Given the description of an element on the screen output the (x, y) to click on. 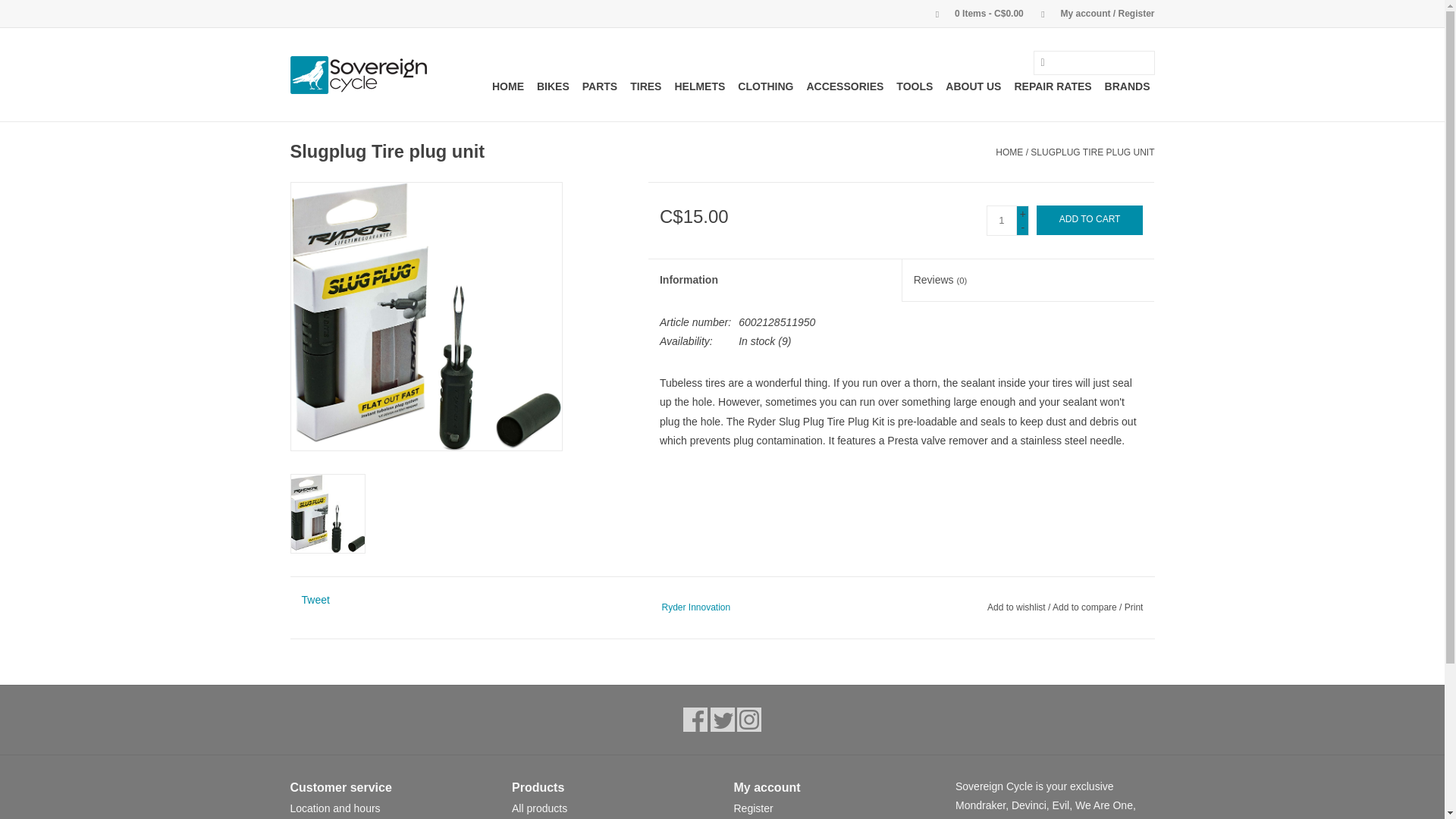
My account (1090, 13)
Cart (973, 13)
1 (1001, 220)
BIKES (552, 86)
PARTS (599, 86)
HOME (507, 86)
Sovereign Cycle (357, 74)
Bikes (552, 86)
